Given the description of an element on the screen output the (x, y) to click on. 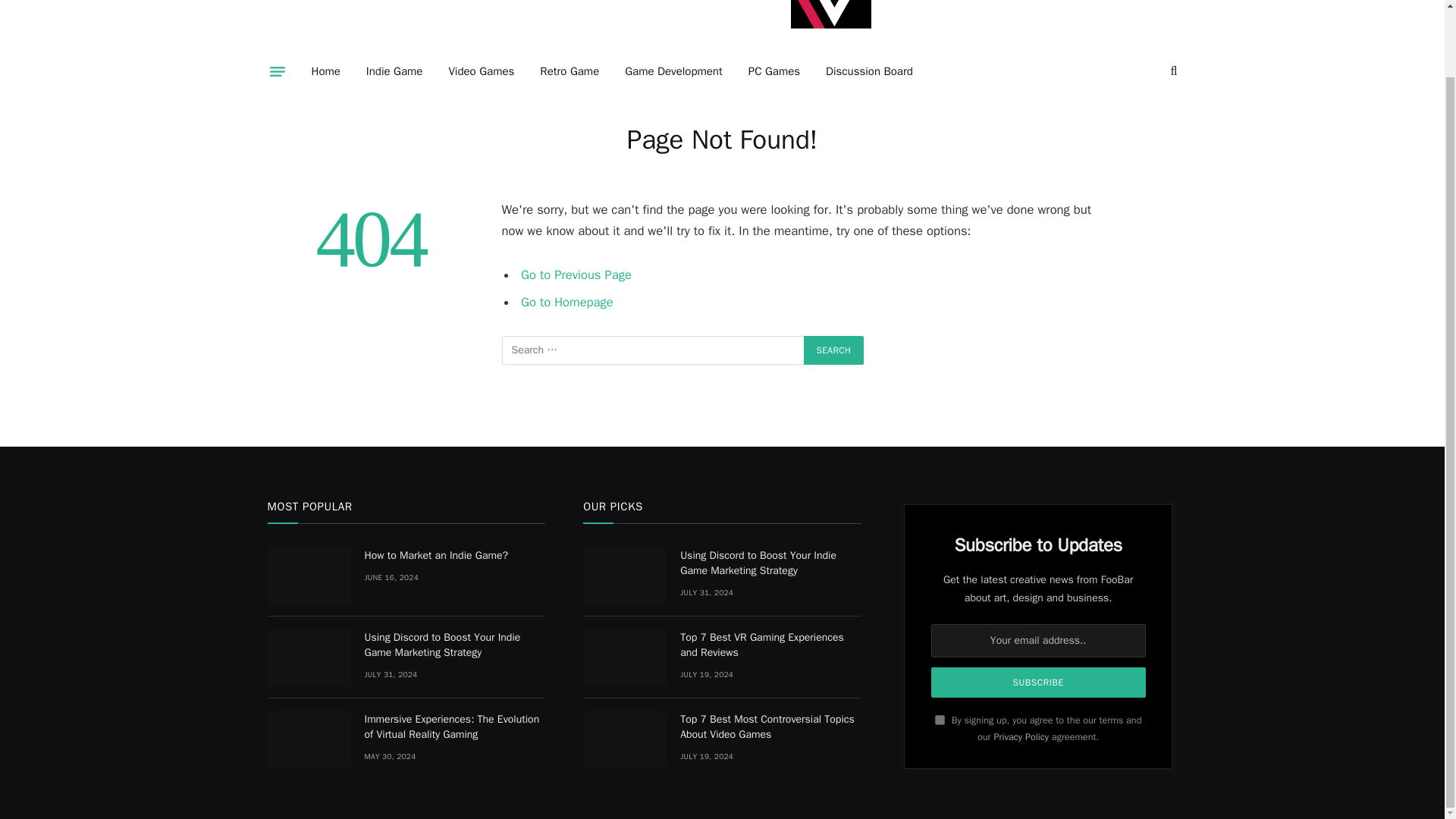
Indie Devchronicles (830, 29)
Top 7 Best VR Gaming Experiences and Reviews (624, 657)
How to Market an Indie Game? (454, 555)
Go to Homepage (566, 301)
on (939, 719)
Retro Game (569, 70)
Game Development (673, 70)
Indie Game (394, 70)
Go to Previous Page (576, 274)
